Given the description of an element on the screen output the (x, y) to click on. 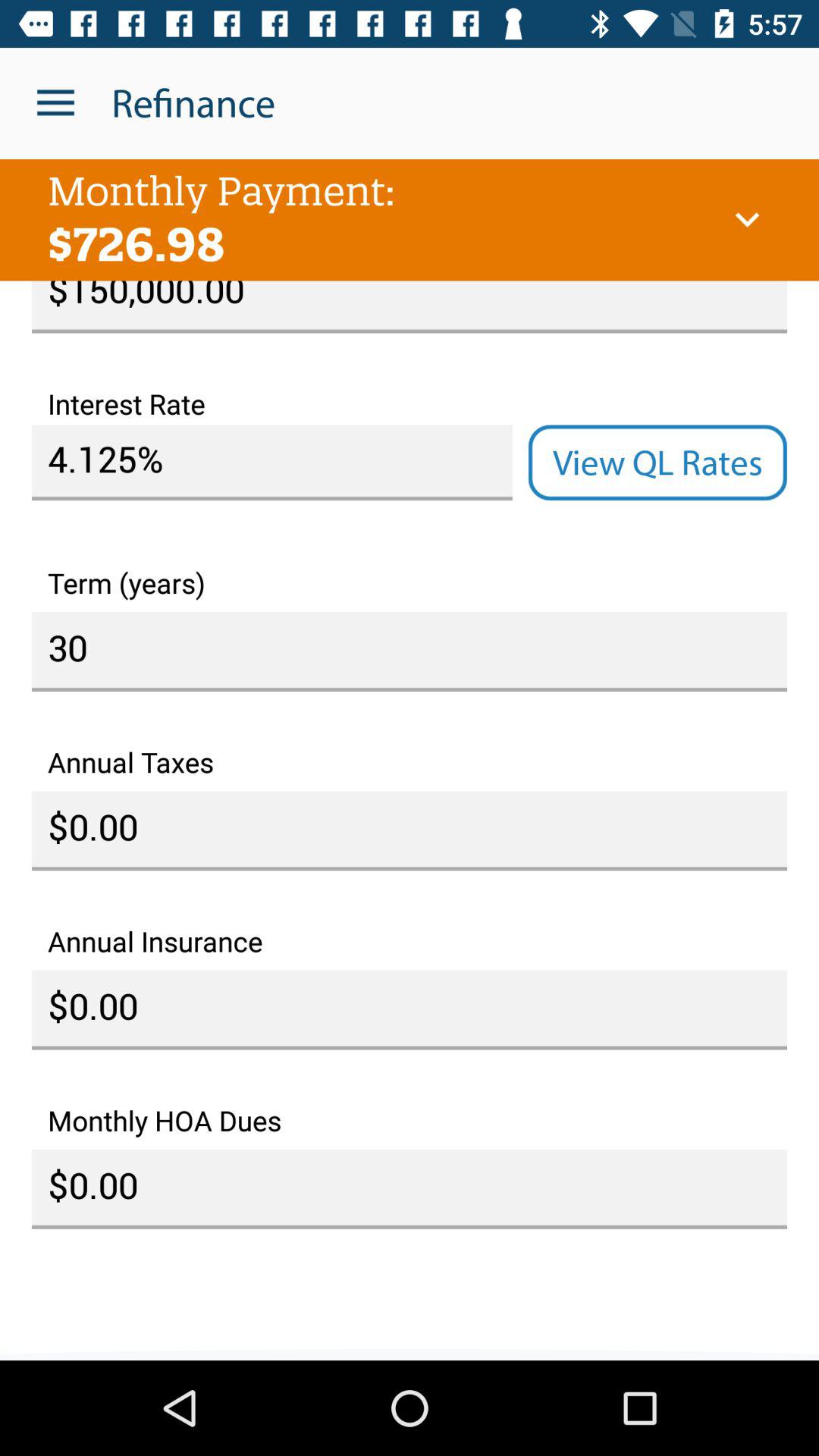
click item below $726.98 (409, 306)
